Given the description of an element on the screen output the (x, y) to click on. 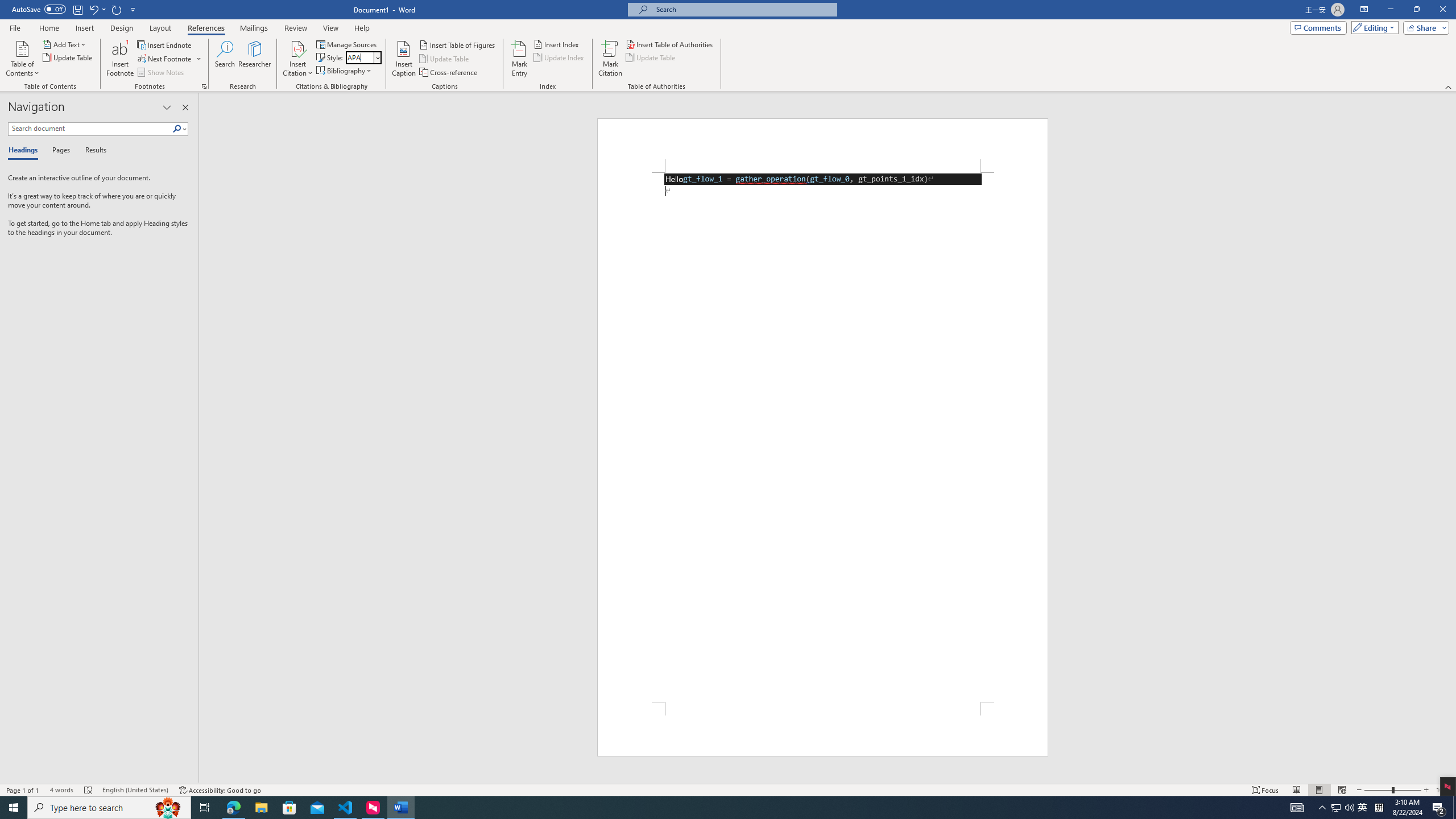
Update Table... (68, 56)
Update Table (651, 56)
Task Pane Options (167, 107)
AutoSave (38, 9)
Spelling and Grammar Check Errors (88, 790)
